Given the description of an element on the screen output the (x, y) to click on. 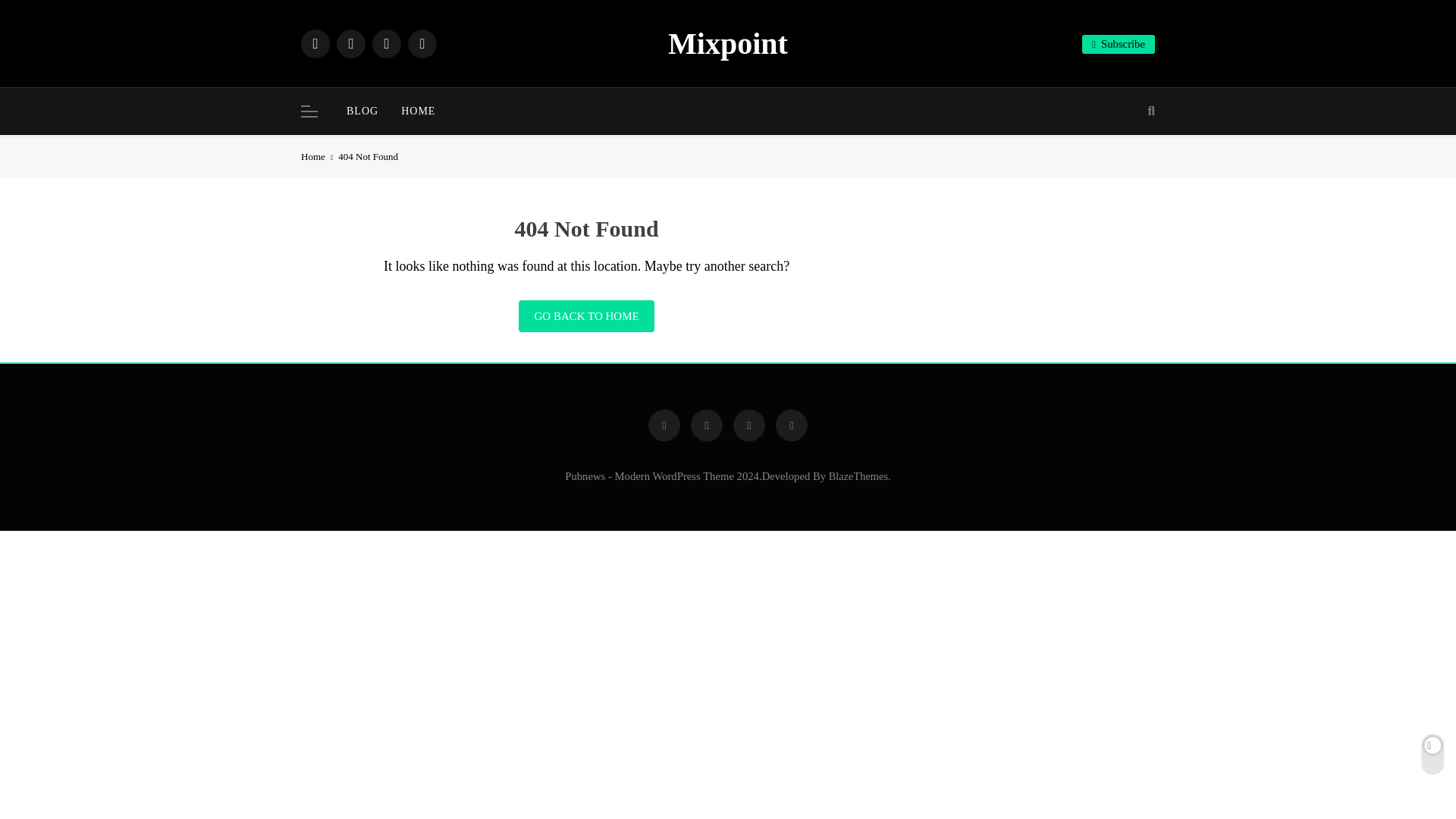
BlazeThemes (858, 476)
Home (319, 156)
Subscribe (1117, 44)
HOME (418, 111)
Mixpoint (727, 43)
Subscribe (1117, 44)
BLOG (362, 111)
GO BACK TO HOME (585, 316)
